Given the description of an element on the screen output the (x, y) to click on. 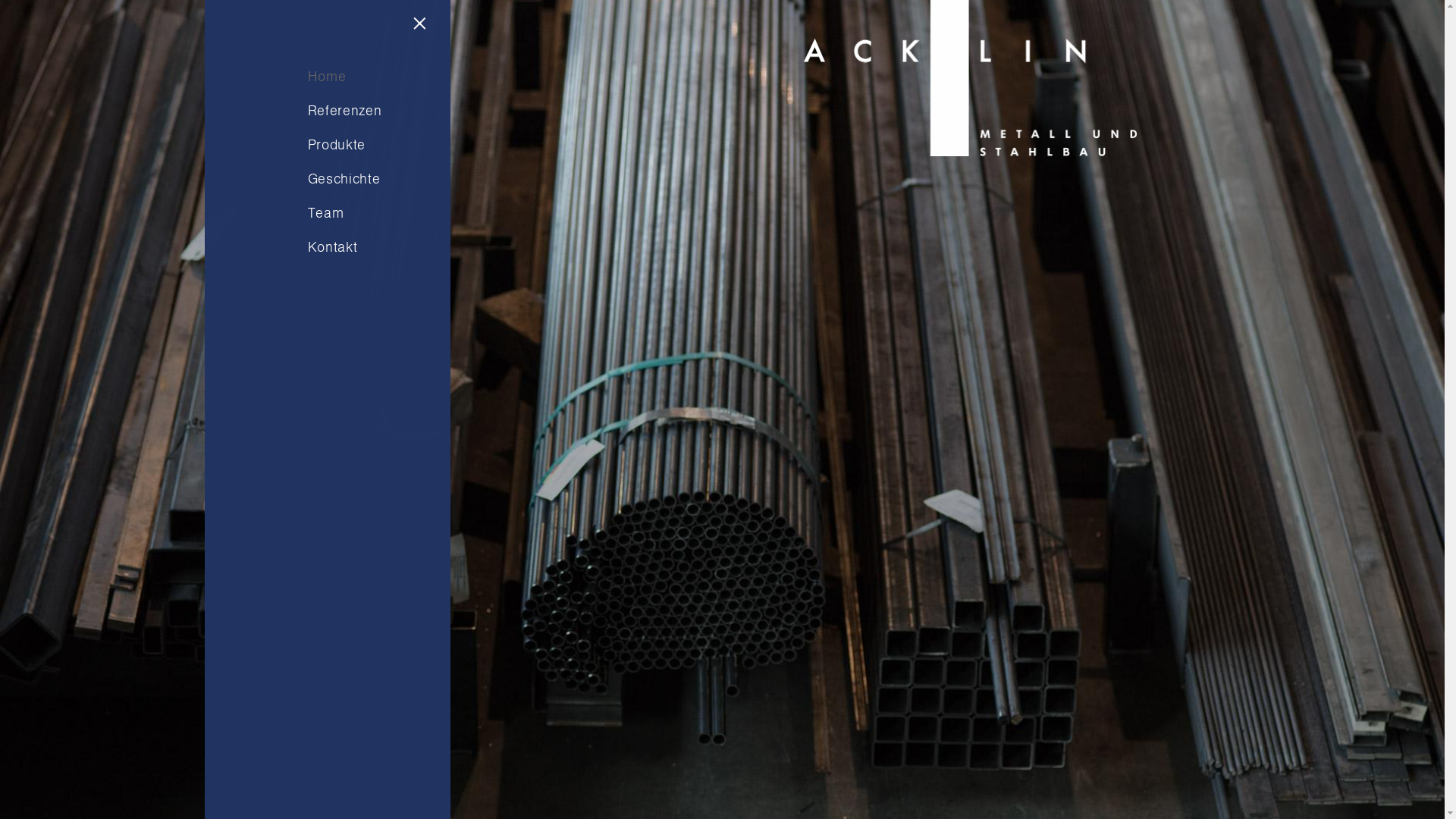
Geschichte Element type: text (344, 179)
Kontakt Element type: text (344, 247)
Produkte Element type: text (344, 145)
Team Element type: text (344, 213)
Referenzen Element type: text (344, 111)
Home Element type: text (344, 76)
